Given the description of an element on the screen output the (x, y) to click on. 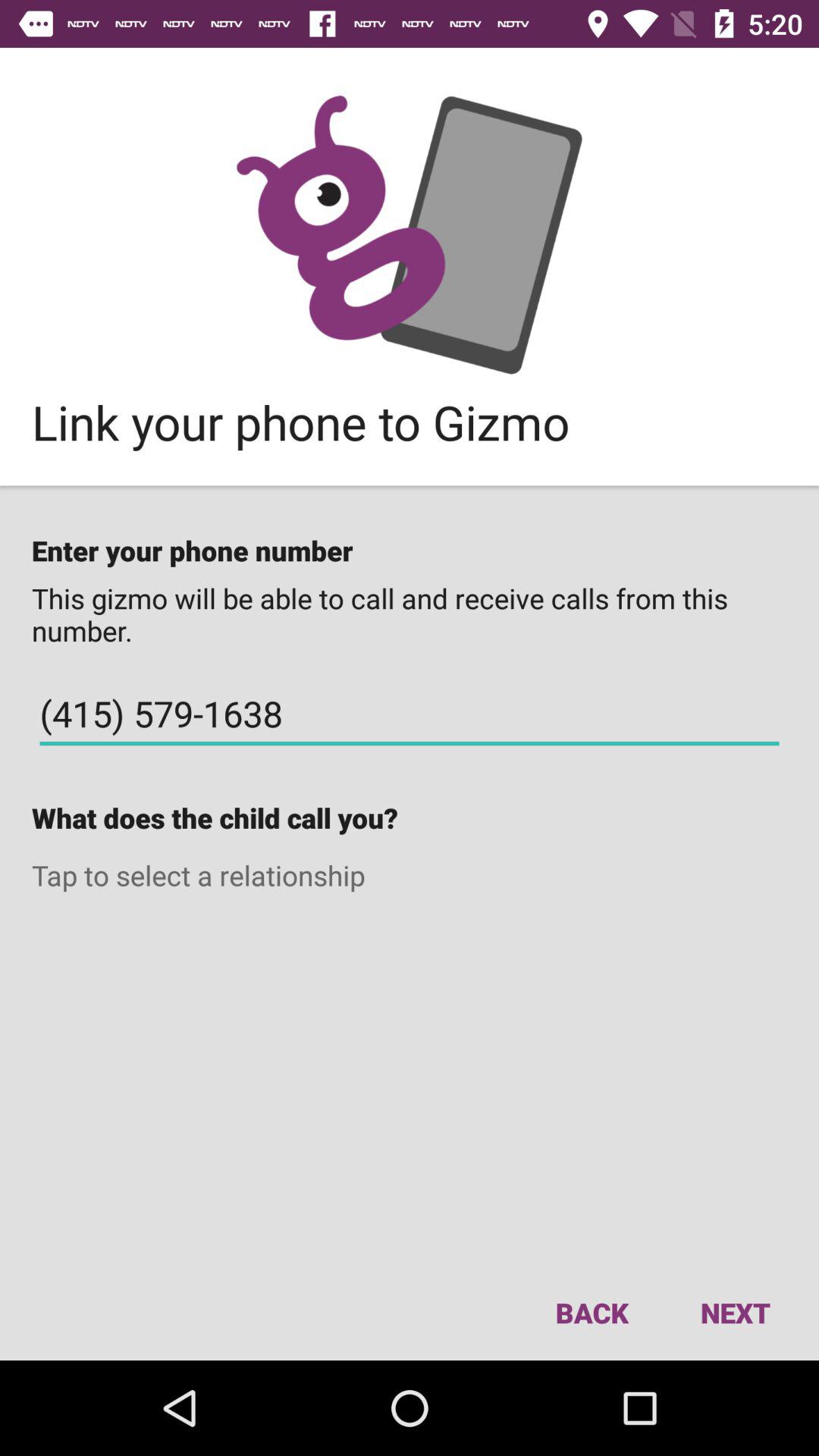
launch the icon next to back item (735, 1312)
